Given the description of an element on the screen output the (x, y) to click on. 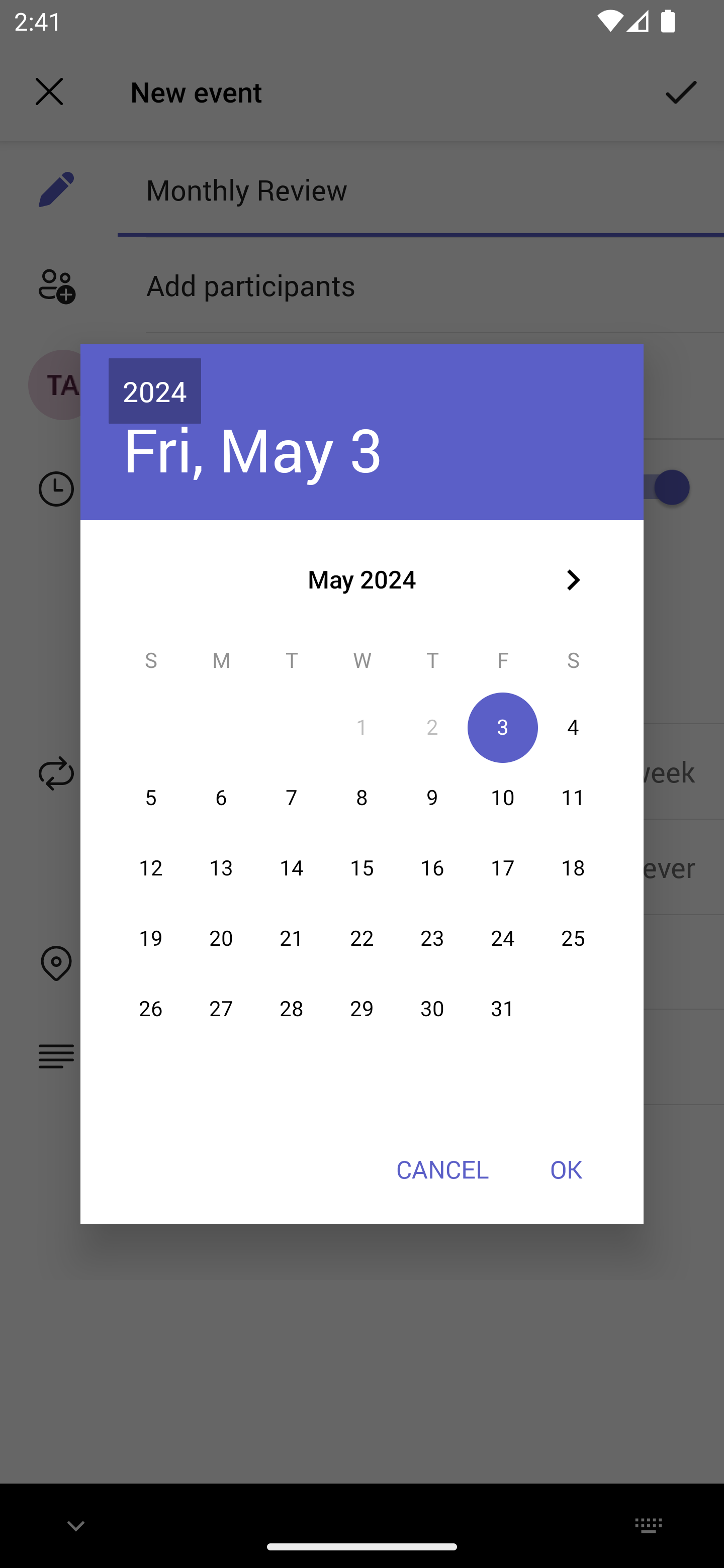
2024 (154, 391)
Fri, May 3 (252, 449)
Next month (572, 579)
1 01 May 2024 (361, 728)
2 02 May 2024 (432, 728)
3 03 May 2024 (502, 728)
4 04 May 2024 (572, 728)
5 05 May 2024 (150, 797)
6 06 May 2024 (221, 797)
7 07 May 2024 (291, 797)
8 08 May 2024 (361, 797)
9 09 May 2024 (432, 797)
10 10 May 2024 (502, 797)
11 11 May 2024 (572, 797)
12 12 May 2024 (150, 867)
13 13 May 2024 (221, 867)
14 14 May 2024 (291, 867)
15 15 May 2024 (361, 867)
16 16 May 2024 (432, 867)
17 17 May 2024 (502, 867)
18 18 May 2024 (572, 867)
19 19 May 2024 (150, 938)
20 20 May 2024 (221, 938)
21 21 May 2024 (291, 938)
22 22 May 2024 (361, 938)
23 23 May 2024 (432, 938)
24 24 May 2024 (502, 938)
25 25 May 2024 (572, 938)
26 26 May 2024 (150, 1008)
27 27 May 2024 (221, 1008)
28 28 May 2024 (291, 1008)
29 29 May 2024 (361, 1008)
30 30 May 2024 (432, 1008)
31 31 May 2024 (502, 1008)
CANCEL (442, 1168)
OK (565, 1168)
